Given the description of an element on the screen output the (x, y) to click on. 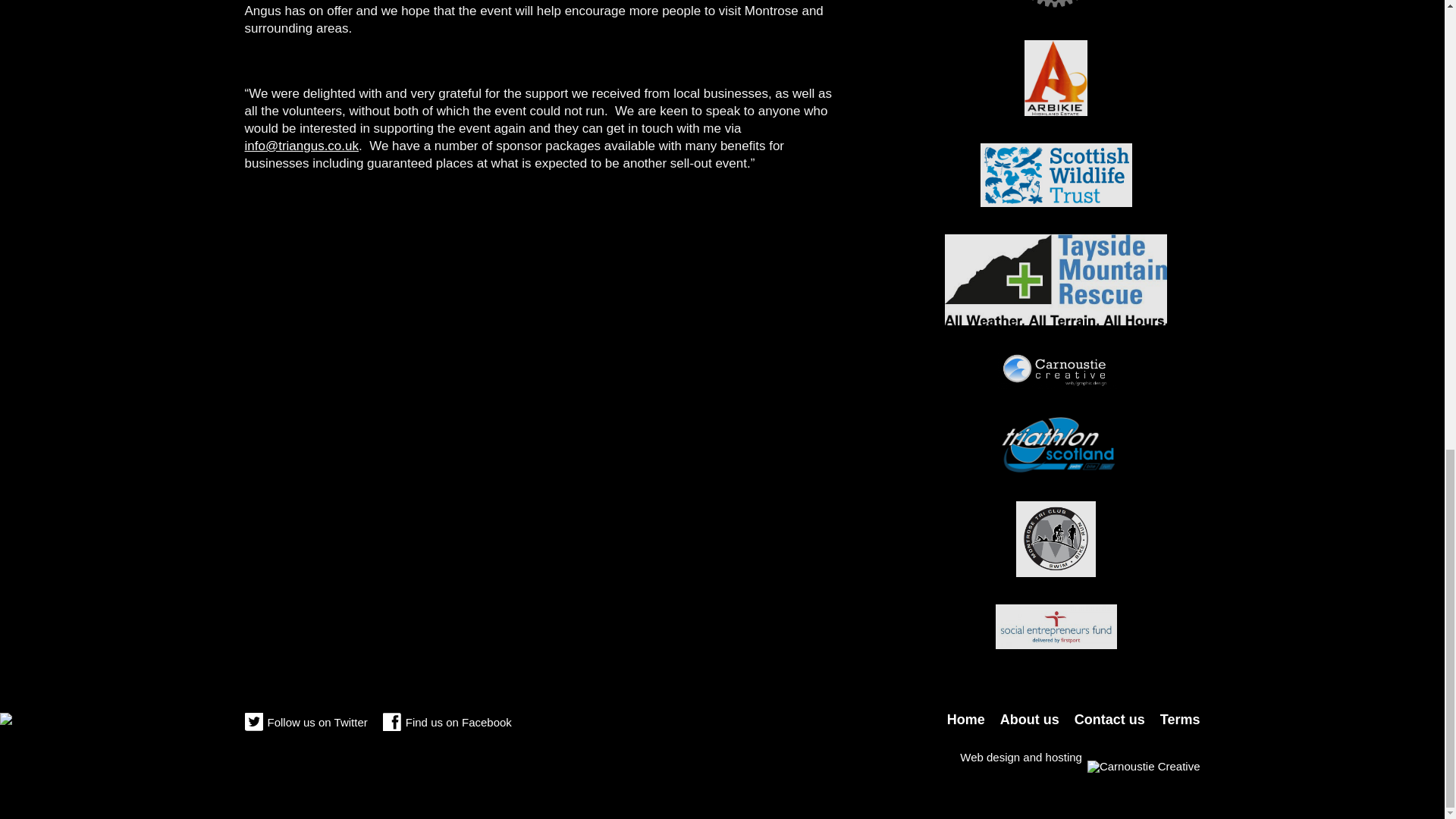
Follow us on Twitter (305, 723)
Home (966, 719)
Web design and hosting (1079, 757)
Contact us (1109, 719)
Find us on Facebook (447, 723)
Terms (1179, 719)
About us (1029, 719)
